Given the description of an element on the screen output the (x, y) to click on. 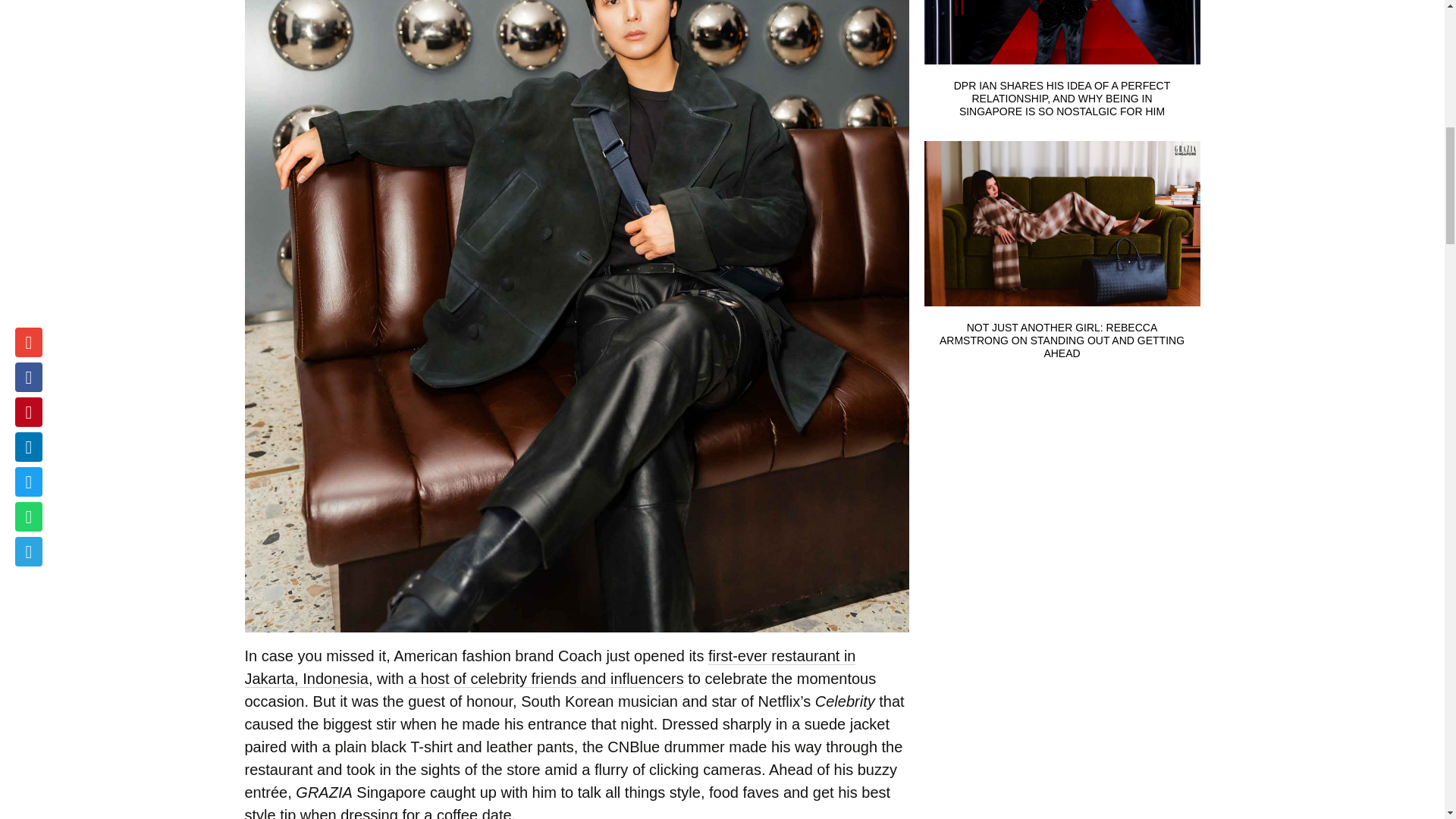
first-ever restaurant in Jakarta, Indonesia (550, 667)
a host of celebrity friends and influencers (545, 678)
